Given the description of an element on the screen output the (x, y) to click on. 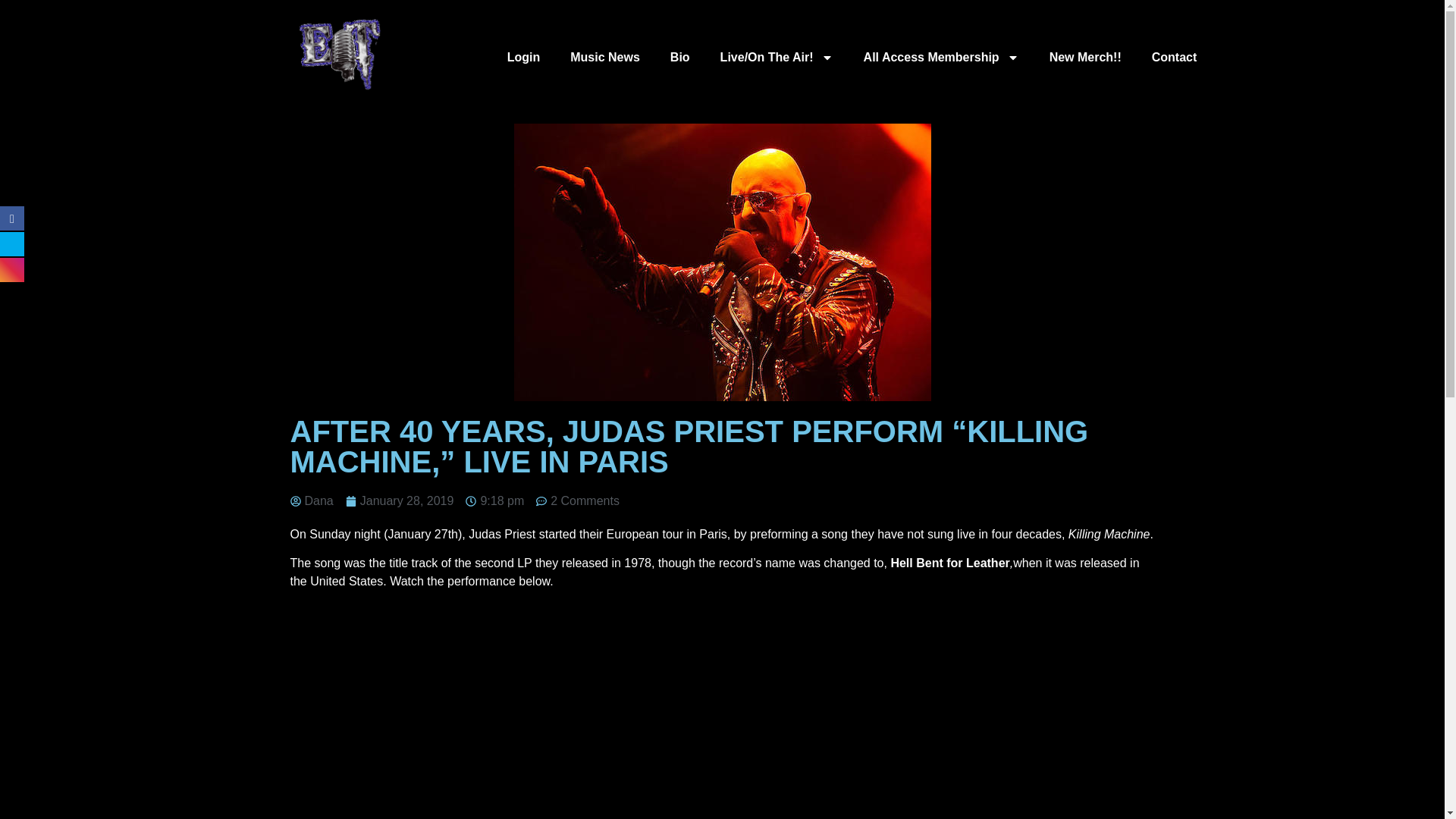
January 28, 2019 (400, 501)
Bio (679, 57)
All Access Membership (940, 57)
Dana (311, 501)
Login (524, 57)
New Merch!! (1085, 57)
Music News (604, 57)
Music News (604, 57)
Contact (1174, 57)
ALL ACCESS MEMBERSHIP (940, 57)
2 Comments (577, 501)
